Given the description of an element on the screen output the (x, y) to click on. 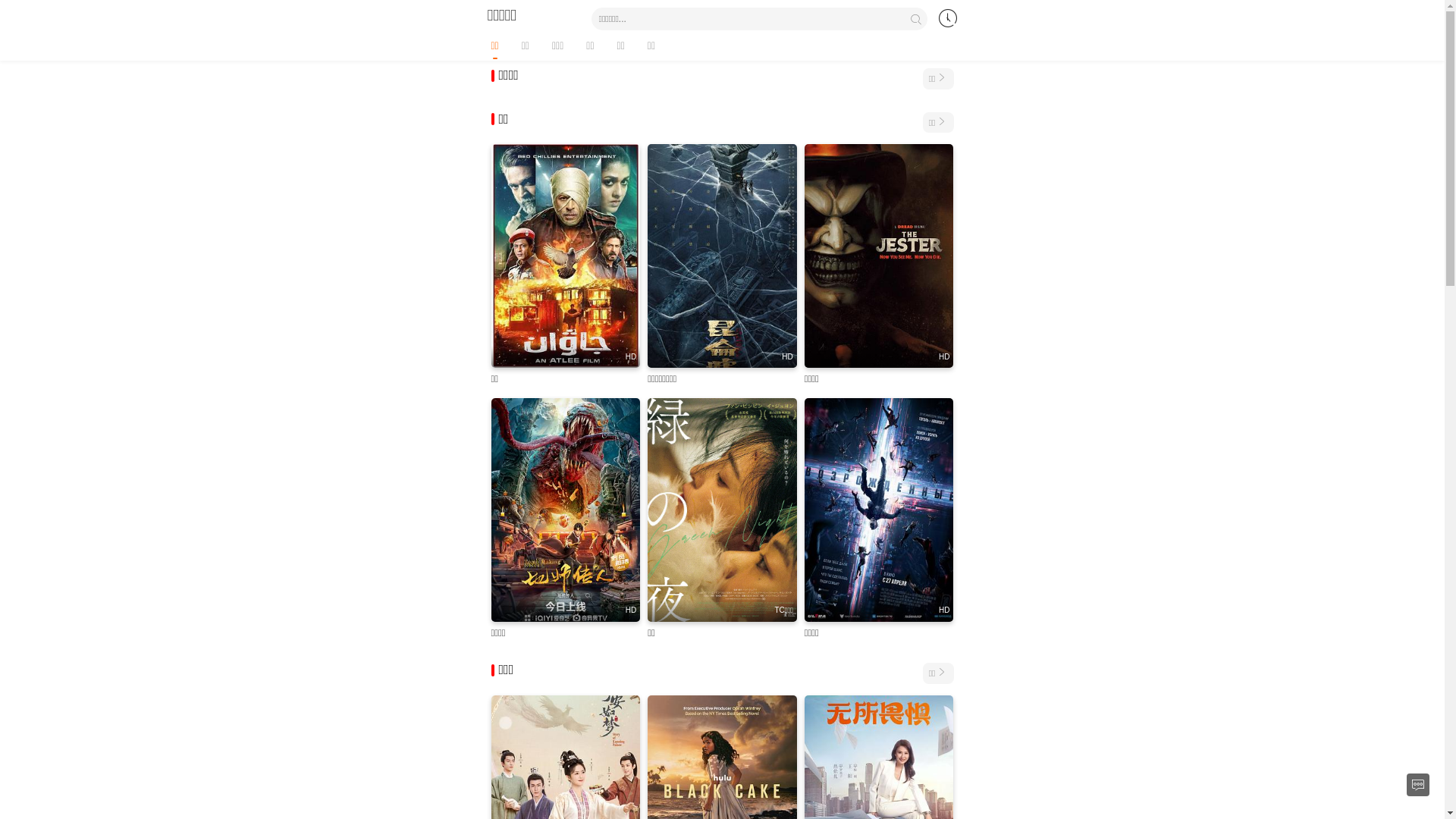
HD Element type: text (565, 509)
HD Element type: text (878, 255)
HD Element type: text (722, 255)
HD Element type: text (878, 509)
HD Element type: text (565, 255)
